Given the description of an element on the screen output the (x, y) to click on. 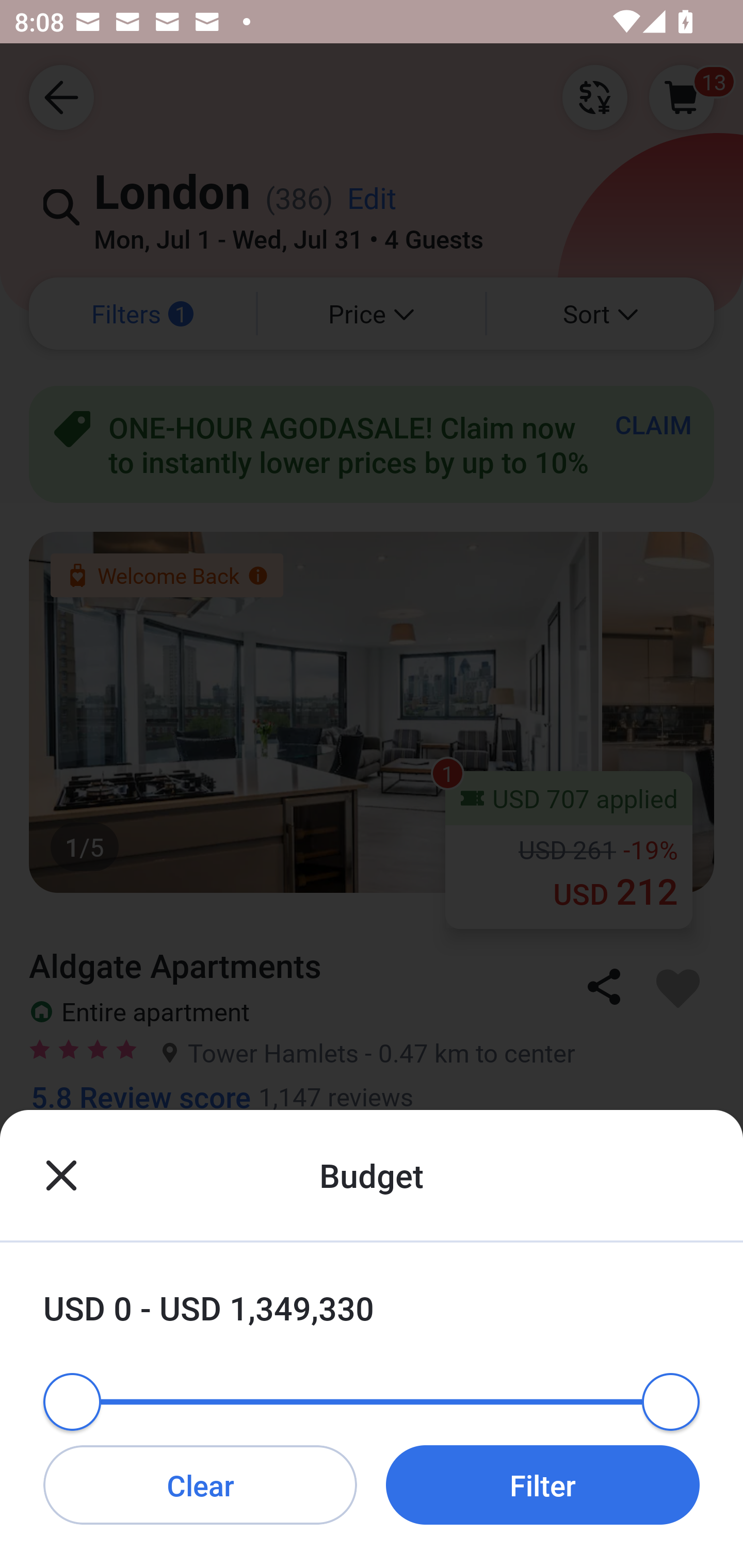
VIP Deal (371, 1430)
Clear (200, 1484)
Filter (542, 1484)
